Given the description of an element on the screen output the (x, y) to click on. 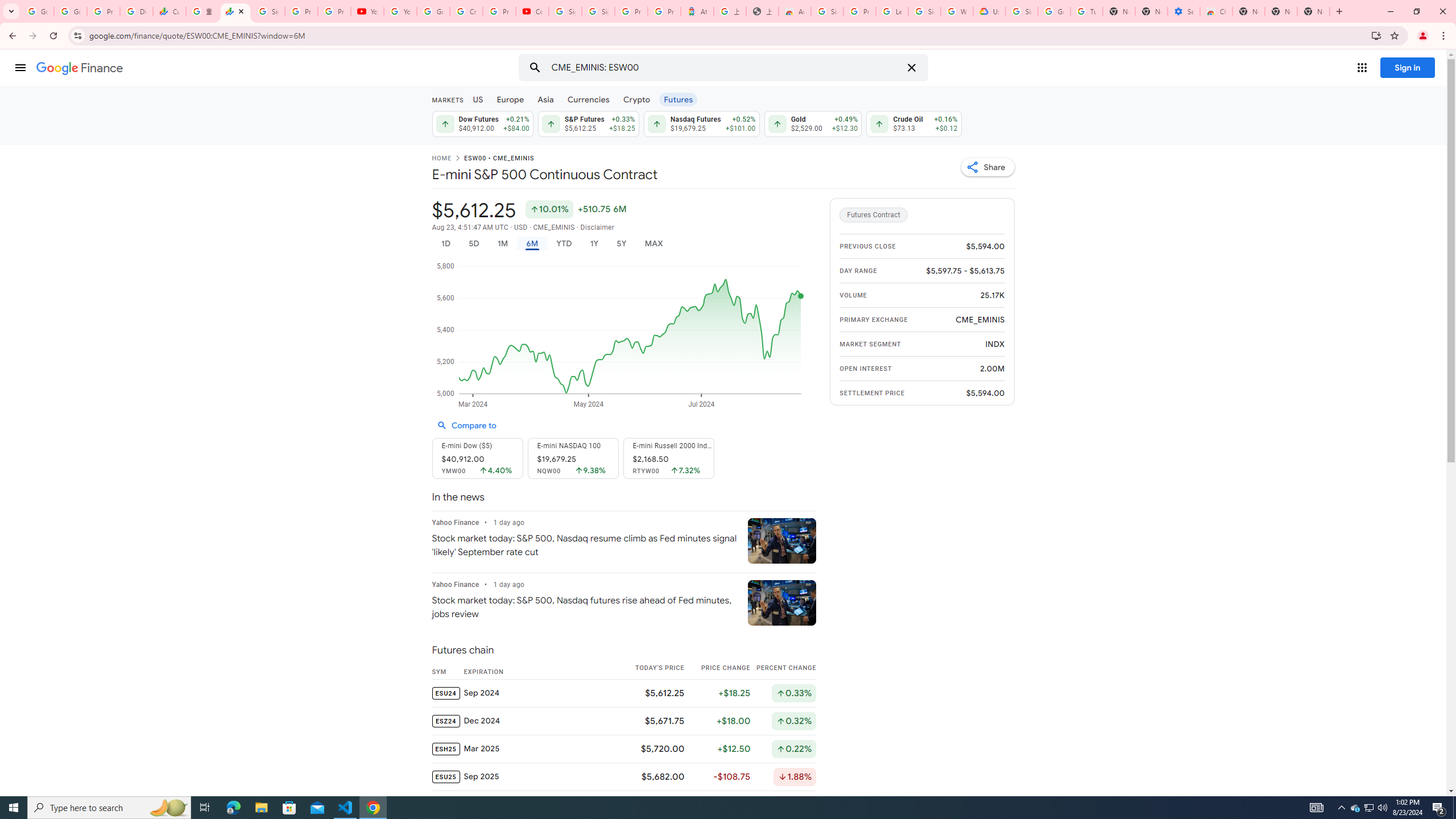
Crude Oil $73.13 Up by 0.16% +$0.12 (914, 123)
Share (987, 167)
ESU24 Sep 2024 $5,612.25 +$18.25 Up by 0.33% (623, 692)
Atour Hotel - Google hotels (697, 11)
Search for stocks, ETFs & more (724, 67)
US (477, 99)
Main menu (20, 67)
ESH25 Mar 2025 $5,720.00 +$12.50 Up by 0.22% (623, 748)
ESU25 Sep 2025 $5,682.00 -$108.75 Down by 1.88% (623, 776)
Disclaimer (596, 227)
